Given the description of an element on the screen output the (x, y) to click on. 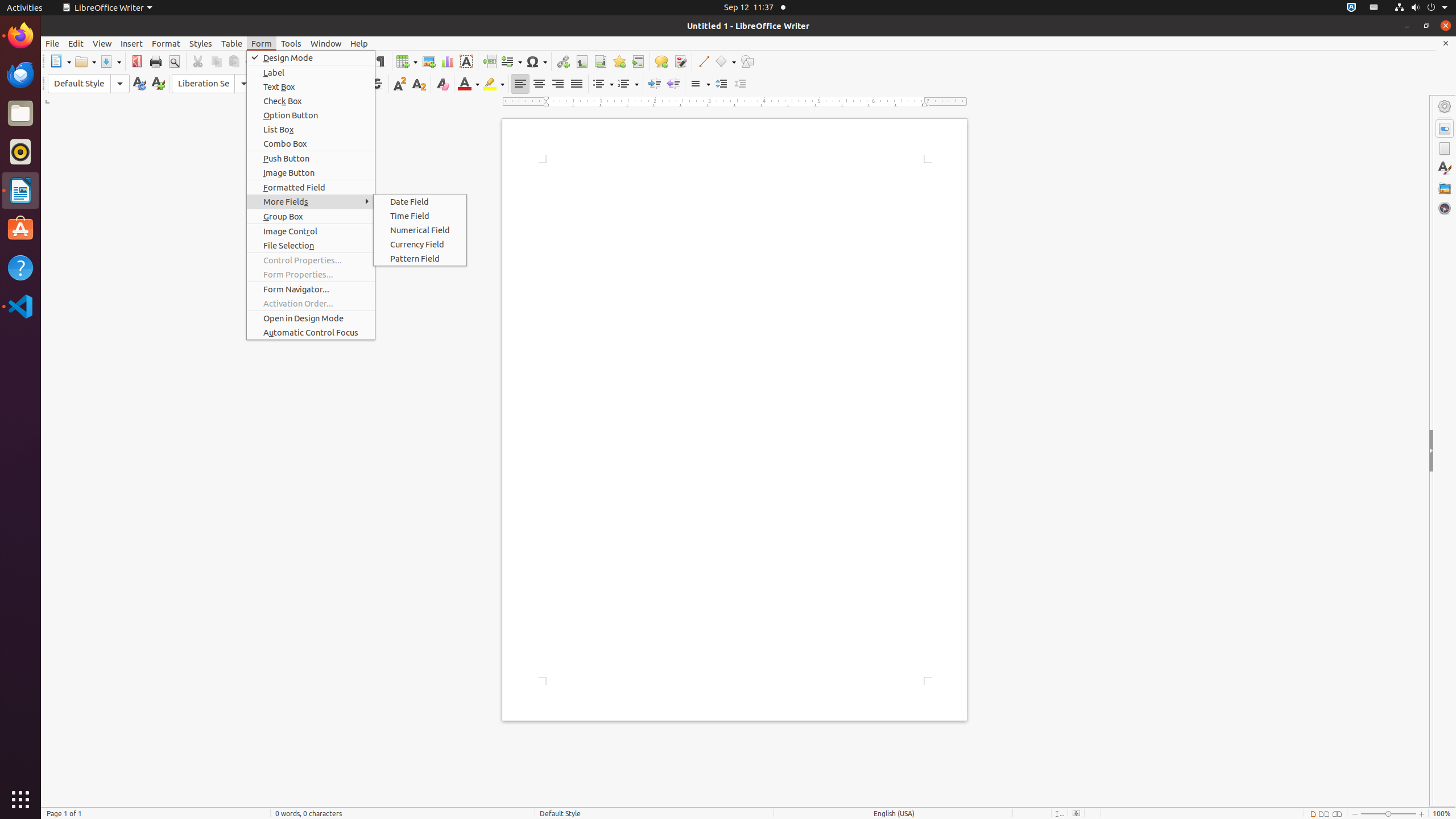
Styles Element type: radio-button (1444, 168)
Draw Functions Element type: push-button (746, 61)
Cut Element type: push-button (197, 61)
Strikethrough Element type: toggle-button (376, 83)
PDF Element type: push-button (136, 61)
